Given the description of an element on the screen output the (x, y) to click on. 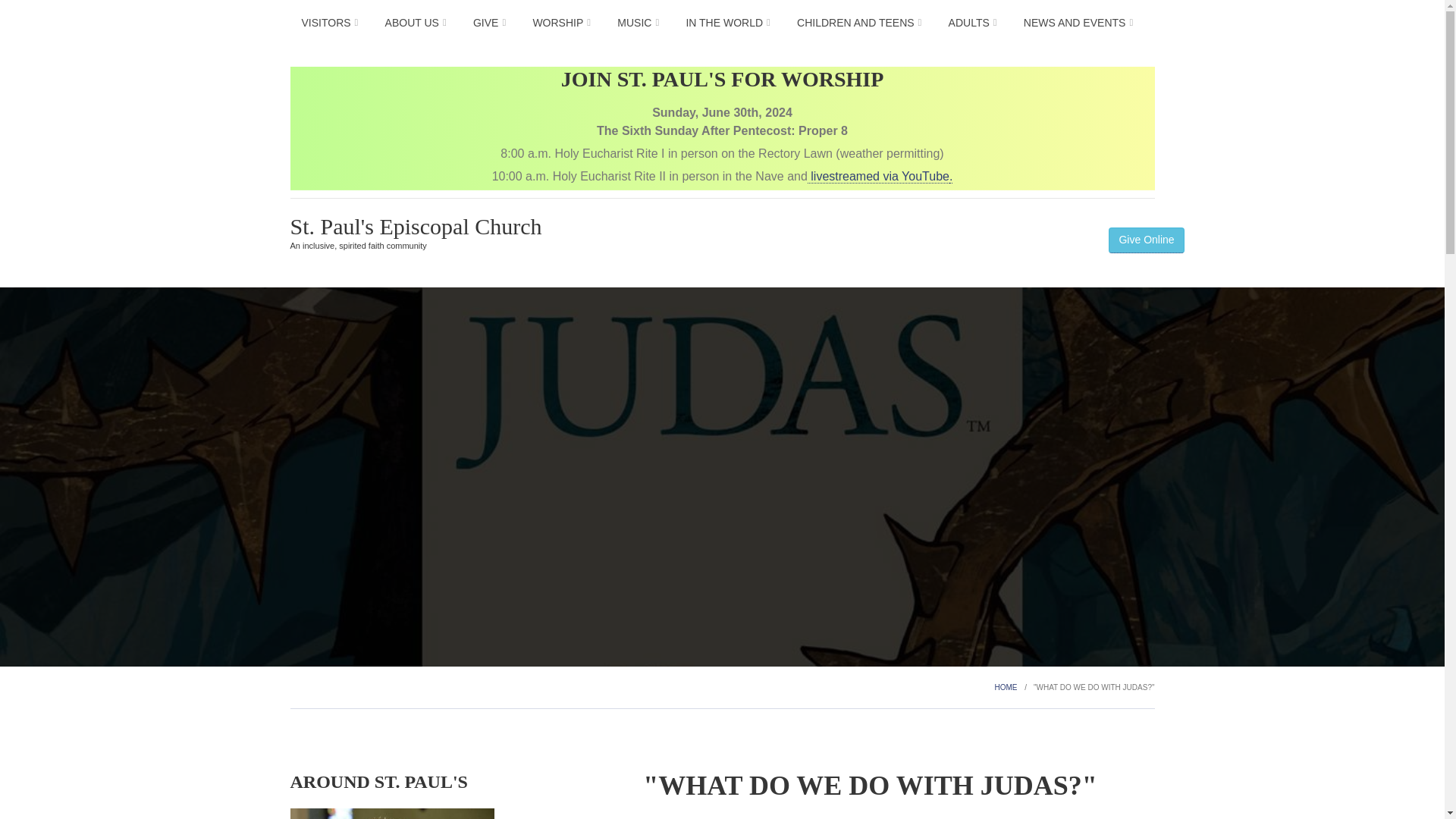
MUSIC (639, 21)
ABOUT US (417, 21)
Give a gift or make a pledge (491, 21)
GIVE (491, 21)
VISITORS (331, 21)
WORSHIP (563, 21)
